Given the description of an element on the screen output the (x, y) to click on. 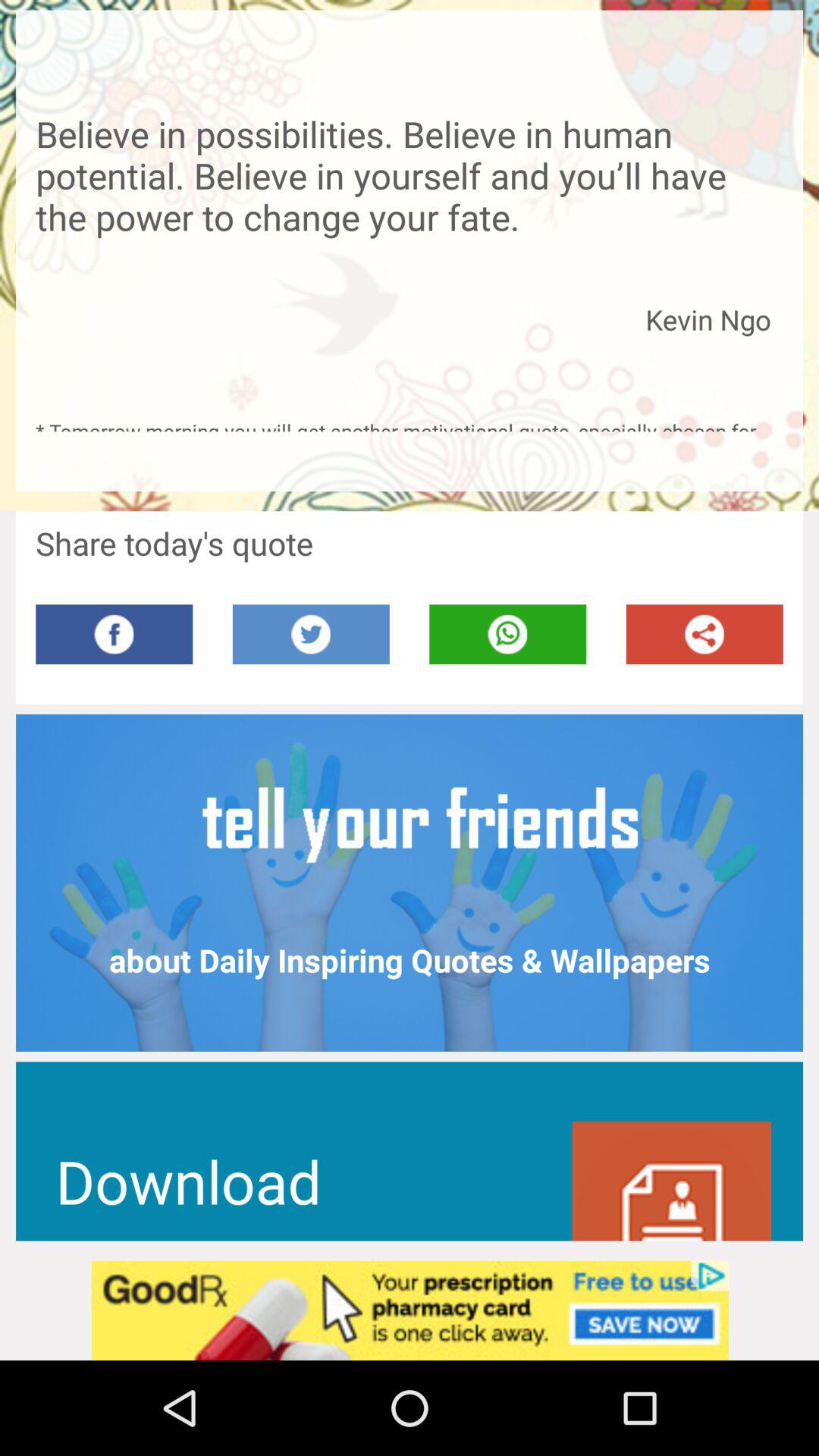
facebook page (113, 634)
